Given the description of an element on the screen output the (x, y) to click on. 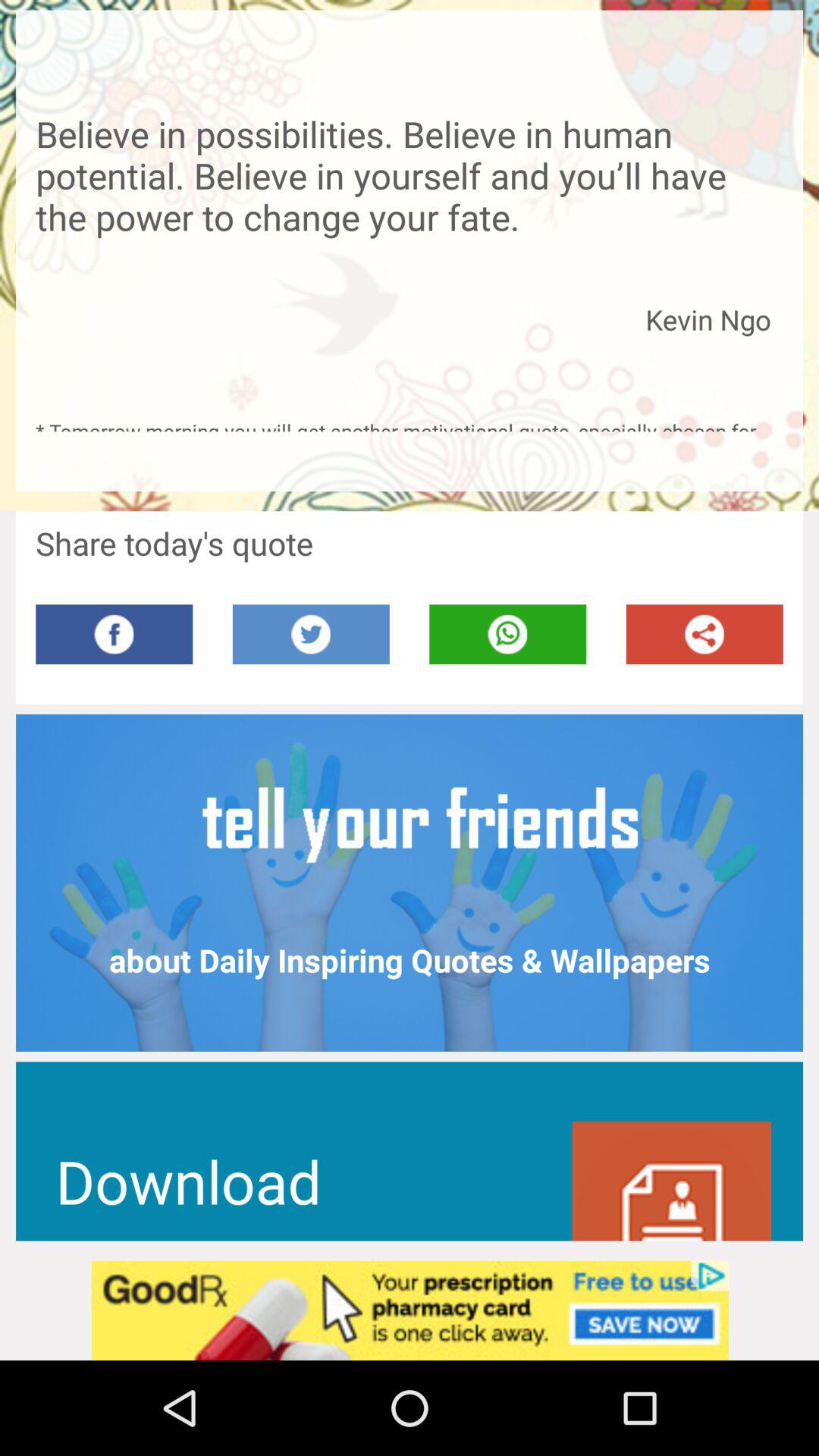
facebook page (113, 634)
